Given the description of an element on the screen output the (x, y) to click on. 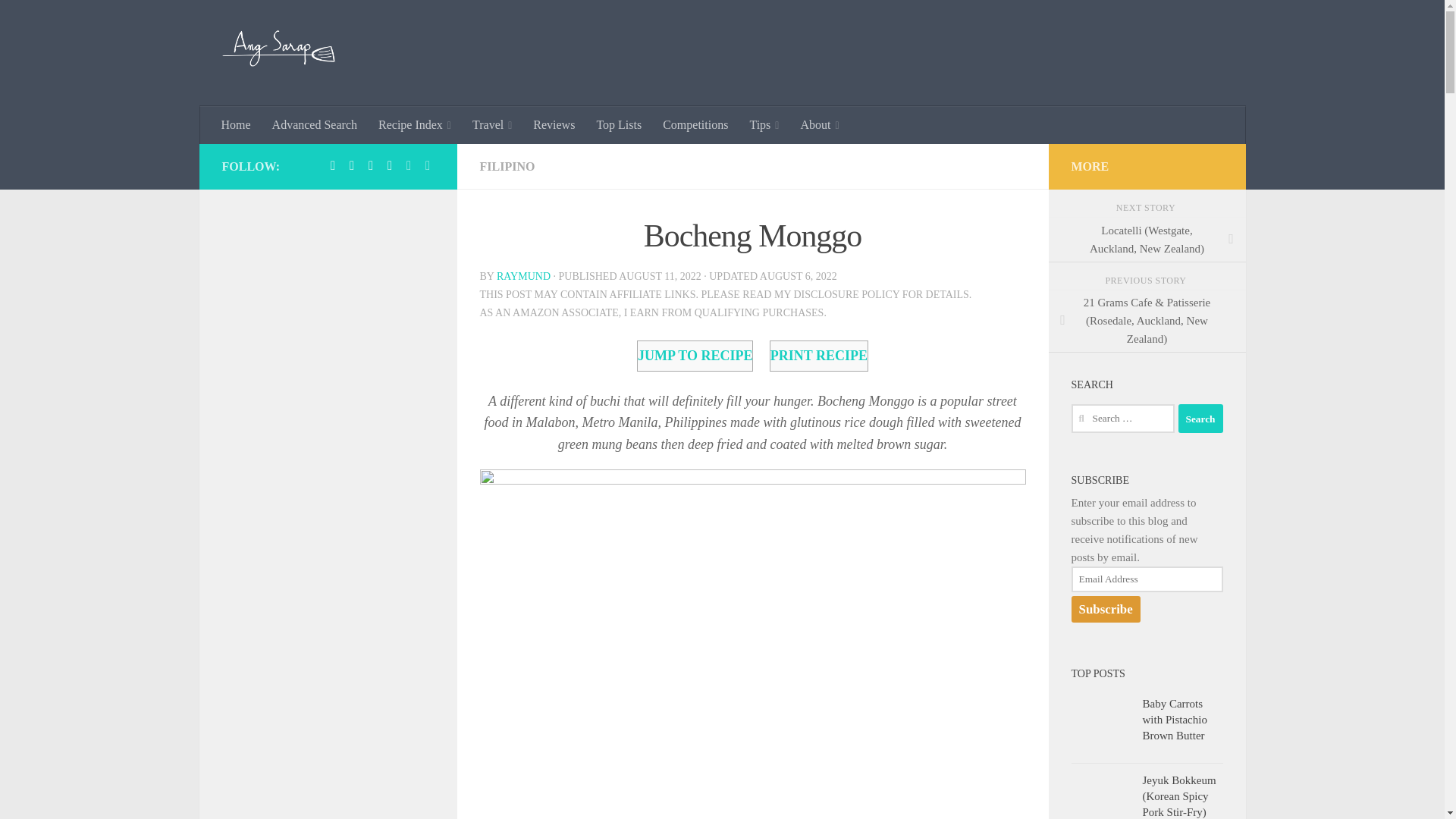
Skip to content (59, 20)
JUMP TO RECIPE (694, 355)
Follow us on Youtube (427, 164)
Search (1200, 418)
Advanced Search (315, 125)
Posts by Raymund (523, 276)
Recipe Index (414, 125)
Pinterest (352, 164)
Tumblr (370, 164)
Search (1200, 418)
